Given the description of an element on the screen output the (x, y) to click on. 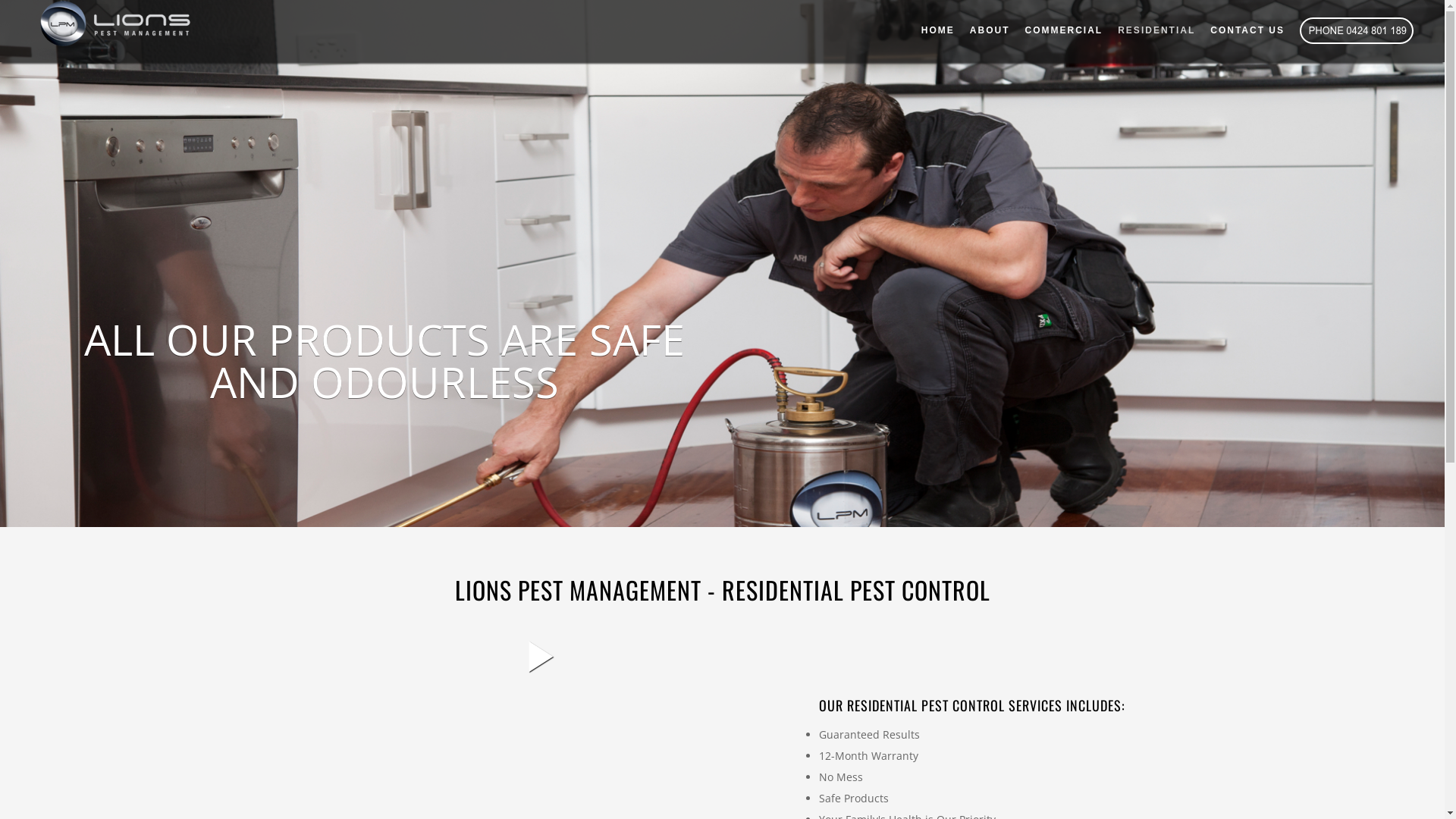
HOME Element type: text (930, 29)
RESIDENTIAL Element type: text (1148, 29)
Home Element type: hover (110, 30)
COMMERCIAL Element type: text (1056, 29)
ABOUT Element type: text (982, 29)
CONTACT US Element type: text (1239, 29)
